Given the description of an element on the screen output the (x, y) to click on. 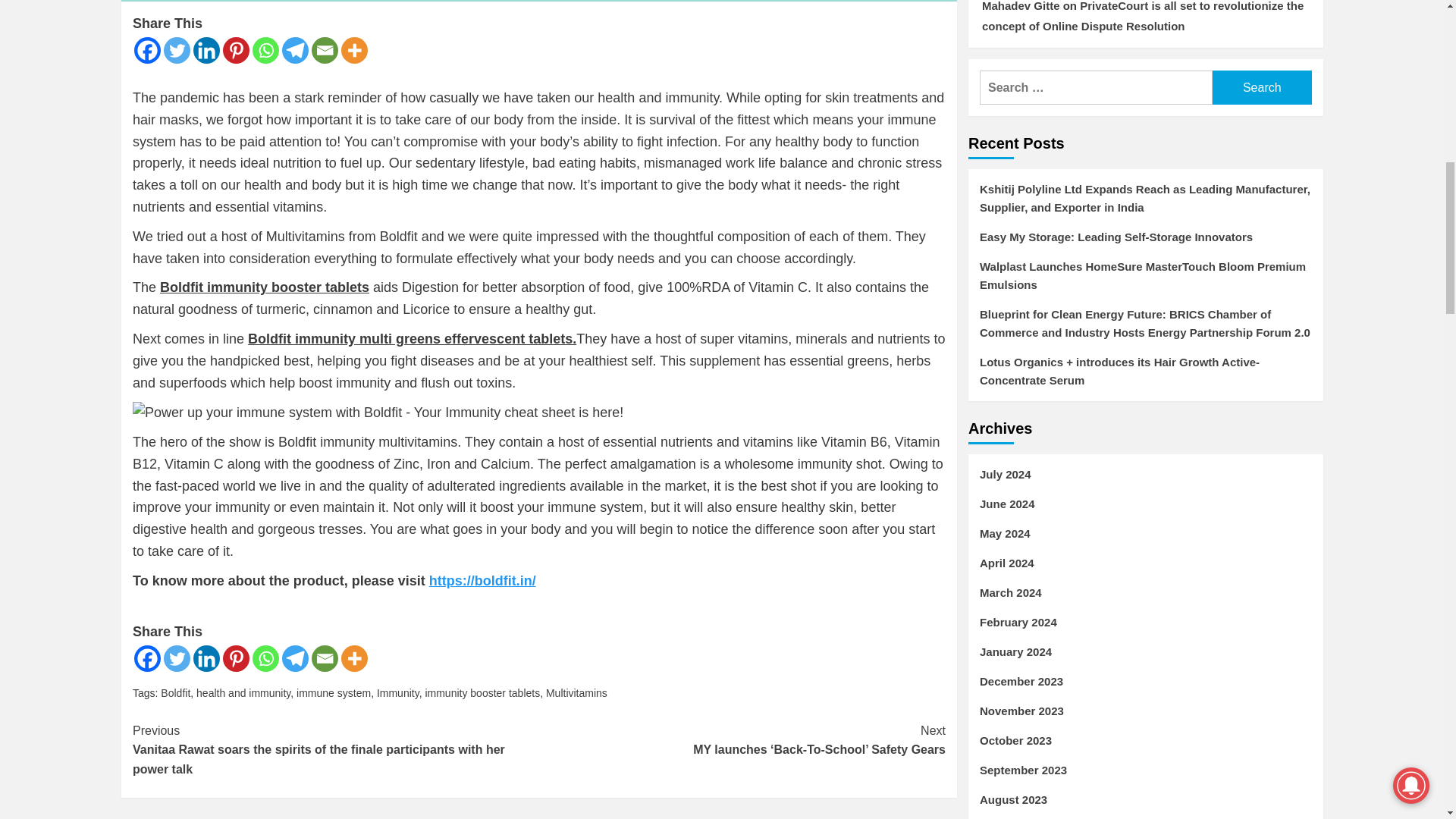
Twitter (176, 658)
Twitter (176, 49)
Telegram (295, 49)
Whatsapp (265, 49)
Facebook (146, 49)
Pinterest (235, 658)
Telegram (295, 658)
Linkedin (206, 49)
More (354, 49)
Whatsapp (265, 658)
Facebook (146, 658)
Email (324, 658)
Email (324, 49)
Search (1261, 87)
Pinterest (235, 49)
